Given the description of an element on the screen output the (x, y) to click on. 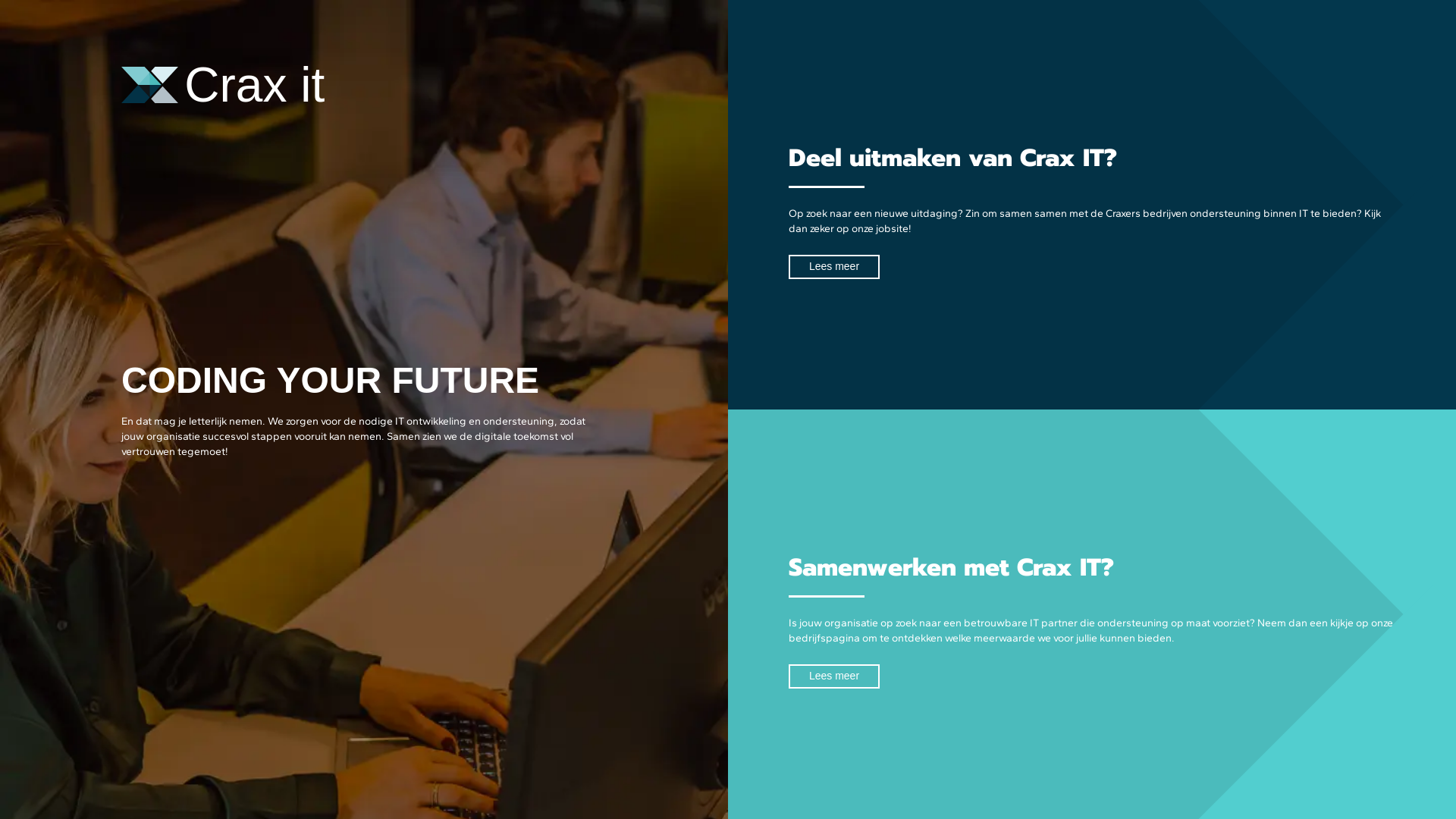
Lees meer Element type: text (833, 676)
Lees meer Element type: text (833, 266)
